Given the description of an element on the screen output the (x, y) to click on. 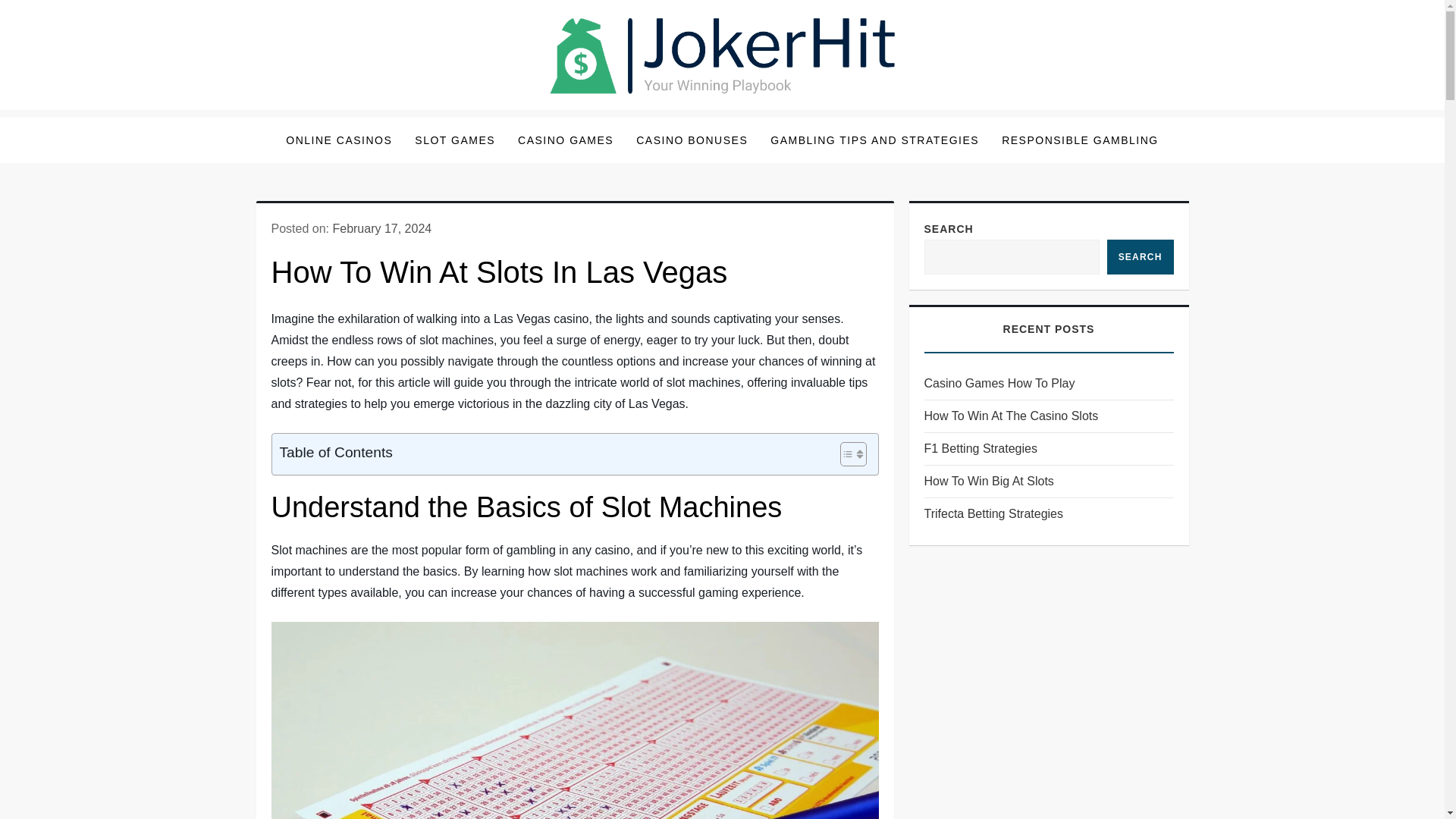
ONLINE CASINOS (339, 139)
GAMBLING TIPS AND STRATEGIES (874, 139)
SLOT GAMES (454, 139)
CASINO GAMES (565, 139)
JokerHit (312, 120)
February 17, 2024 (380, 228)
CASINO BONUSES (691, 139)
RESPONSIBLE GAMBLING (1080, 139)
